Given the description of an element on the screen output the (x, y) to click on. 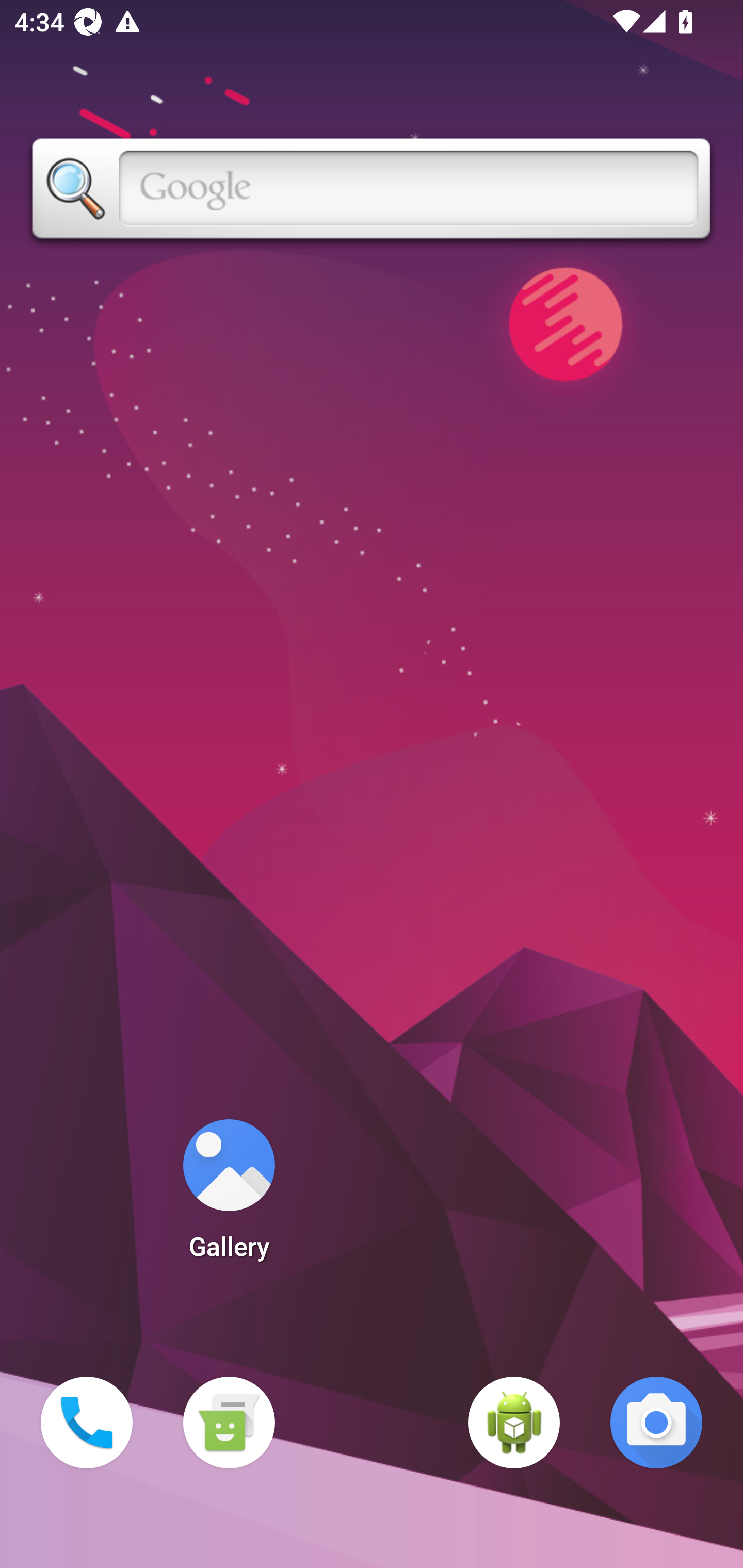
Gallery (228, 1195)
Phone (86, 1422)
Messaging (228, 1422)
WebView Browser Tester (513, 1422)
Camera (656, 1422)
